Given the description of an element on the screen output the (x, y) to click on. 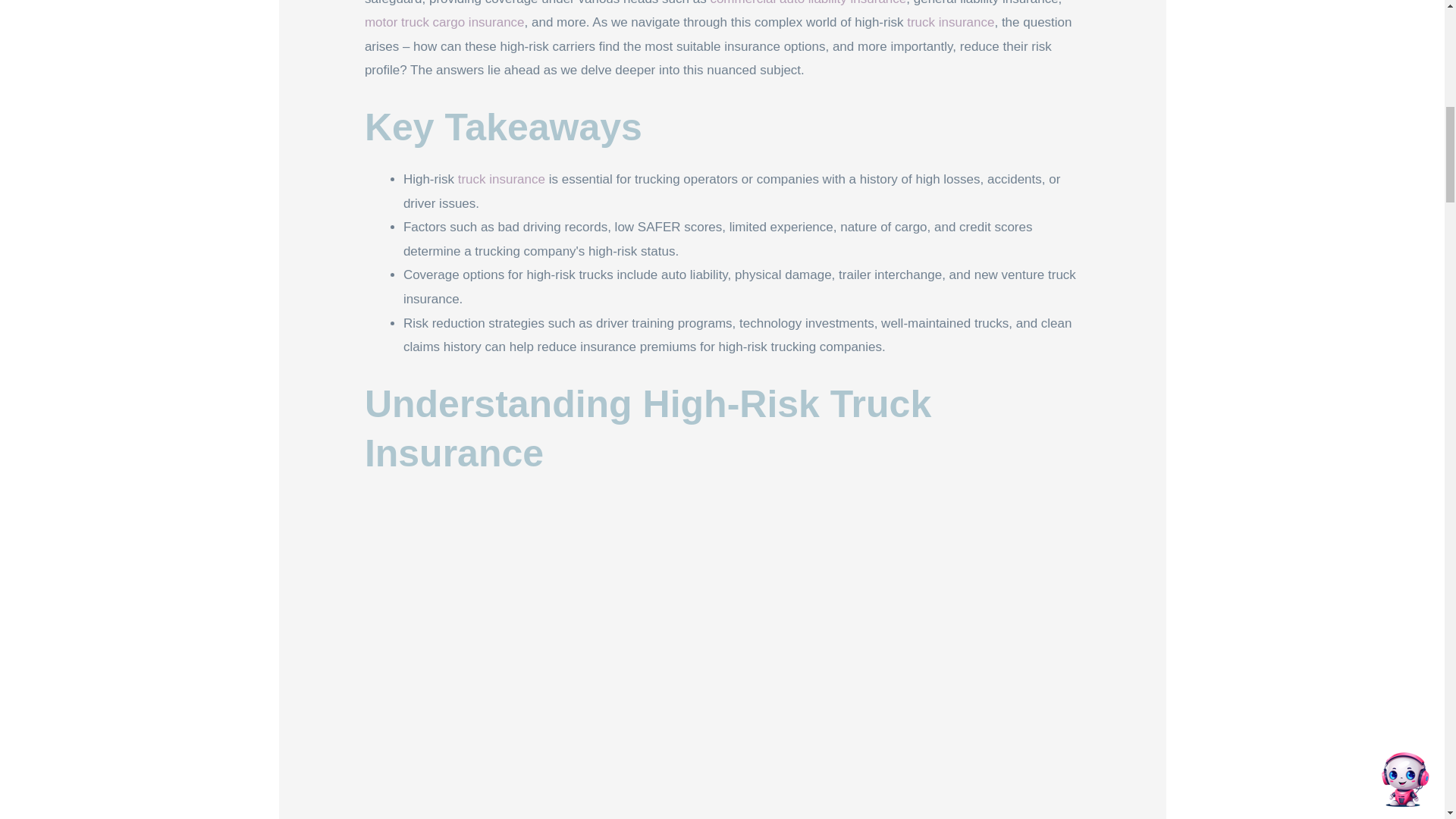
Commercial Auto Liability Insurance (807, 2)
motor truck cargo insurance (444, 22)
Truck Insurance (950, 22)
Truck Insurance (501, 178)
commercial auto liability insurance (807, 2)
truck insurance (501, 178)
truck insurance (950, 22)
Motor Truck Cargo Insurance (444, 22)
